Given the description of an element on the screen output the (x, y) to click on. 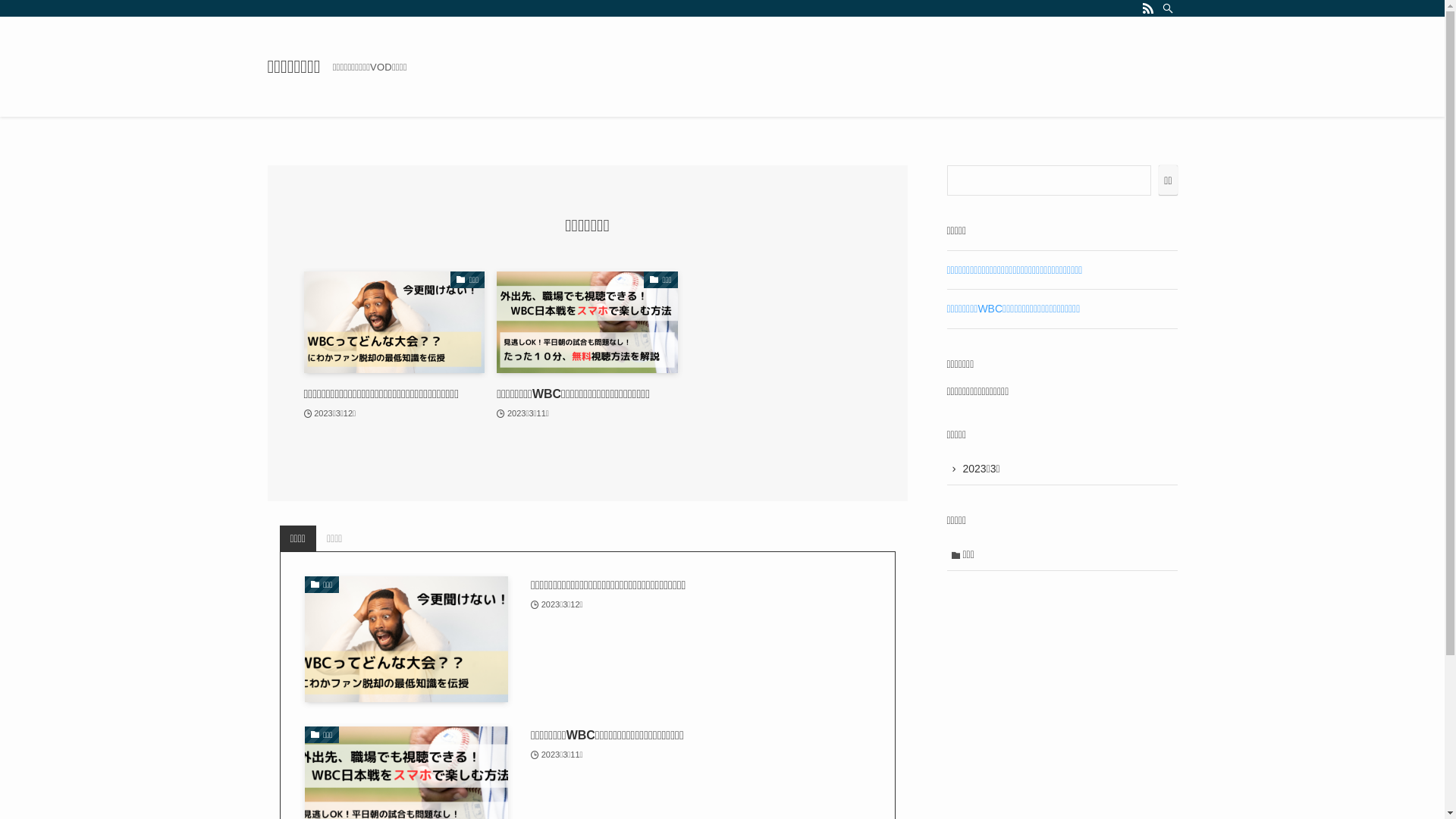
search Element type: text (921, 421)
